Given the description of an element on the screen output the (x, y) to click on. 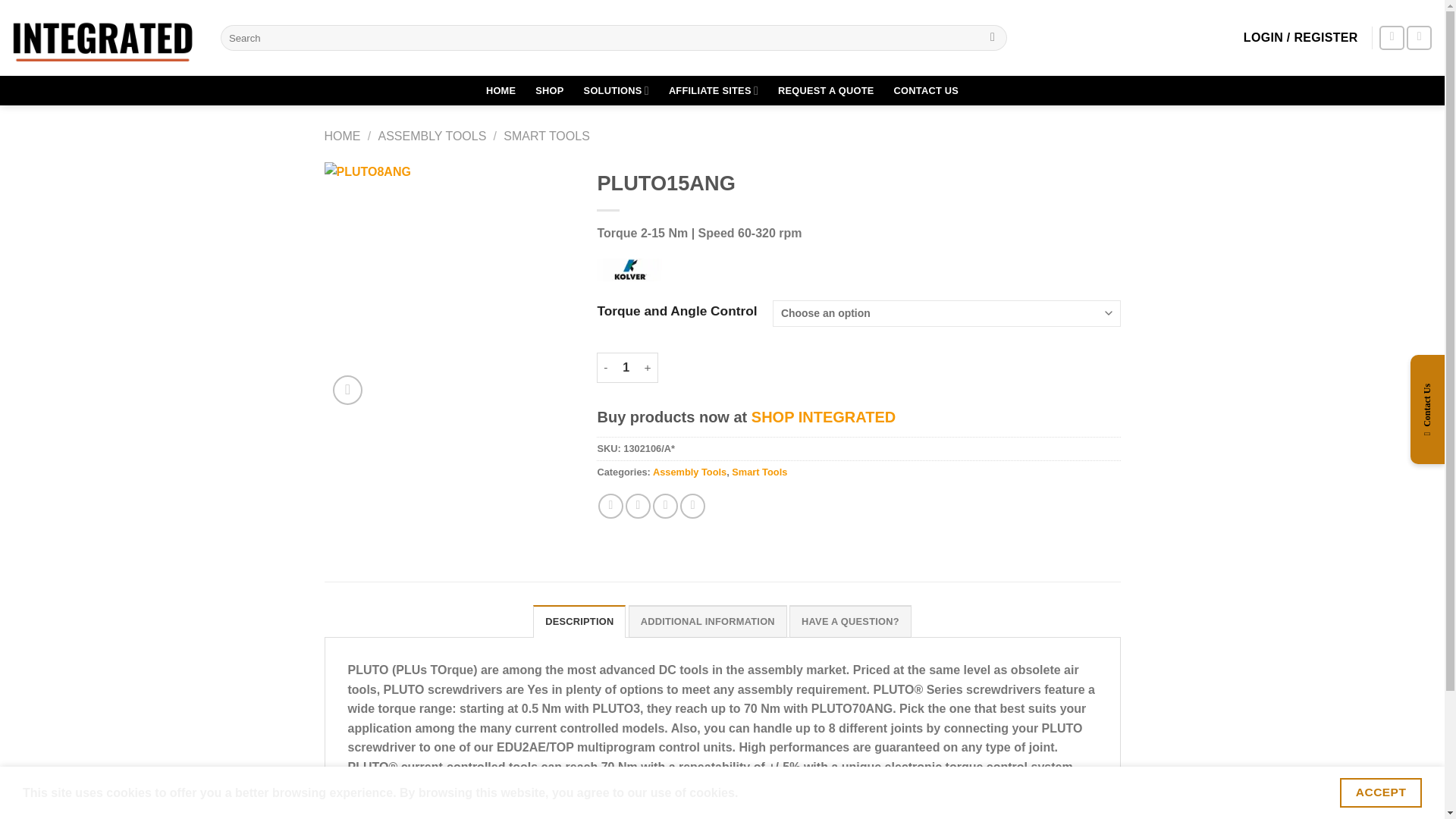
Share on Twitter (638, 505)
Send us an email (1391, 37)
SOLUTIONS (616, 90)
Email to a Friend (665, 505)
Search (992, 37)
Login (1300, 37)
Share on LinkedIn (691, 505)
HOME (500, 90)
Follow on LinkedIn (1418, 37)
1 (626, 367)
Zoom (347, 389)
SHOP (549, 90)
- (604, 367)
Share on Facebook (610, 505)
